Given the description of an element on the screen output the (x, y) to click on. 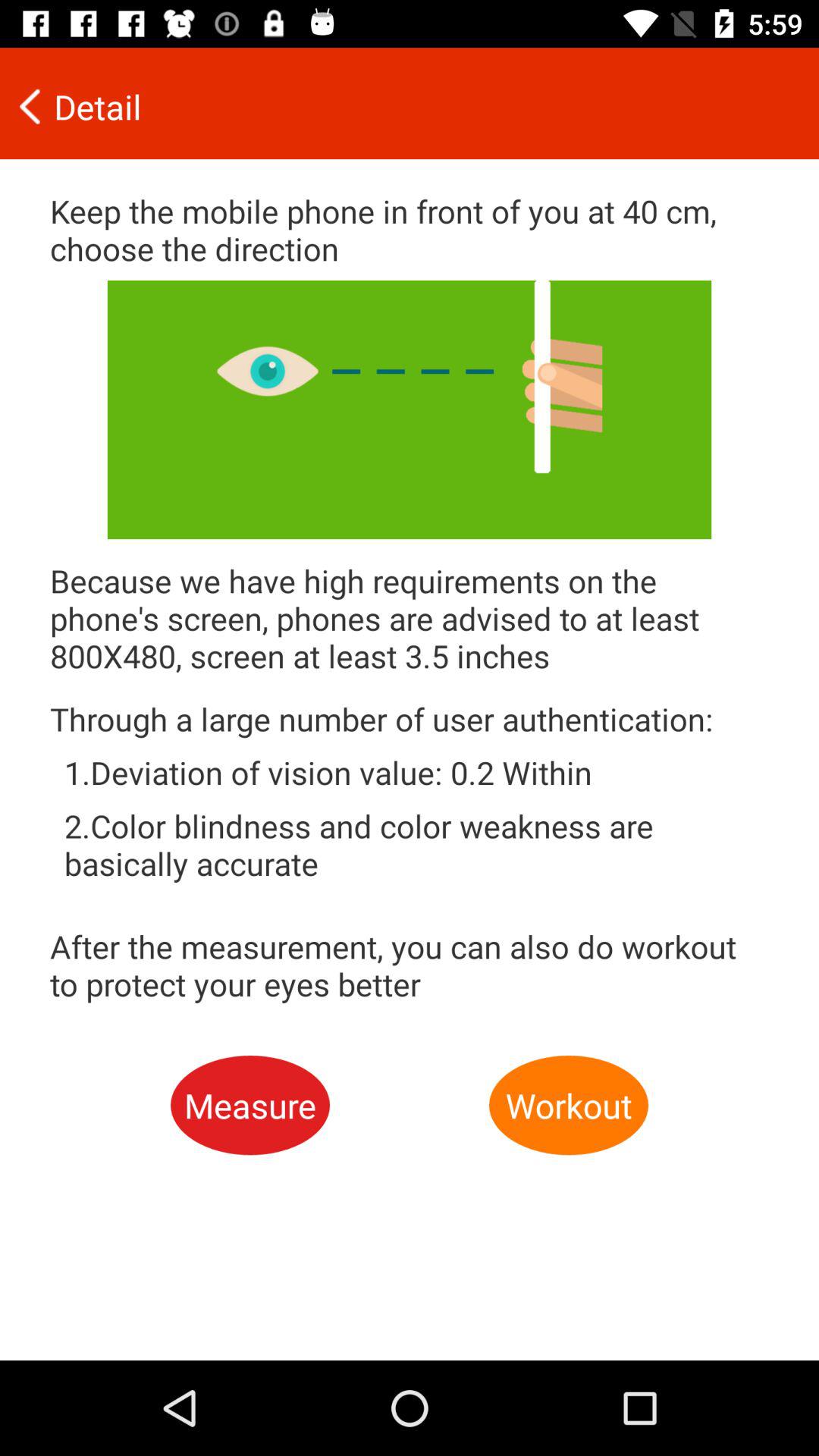
turn off the item below after the measurement (249, 1105)
